Given the description of an element on the screen output the (x, y) to click on. 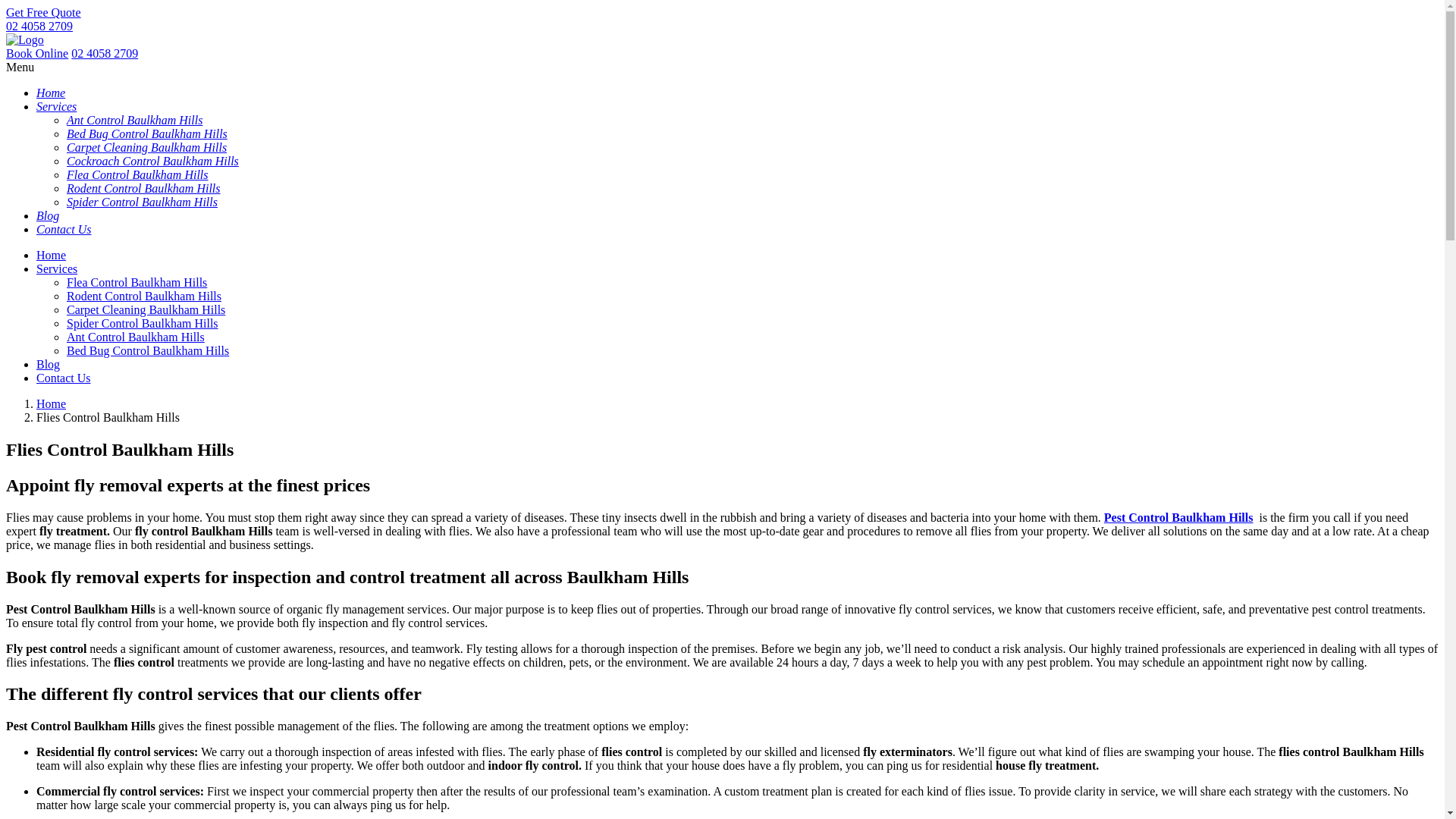
Menu Element type: text (20, 66)
Home Element type: text (50, 92)
Services Element type: text (56, 268)
Ant Control Baulkham Hills Element type: text (135, 336)
Cockroach Control Baulkham Hills Element type: text (152, 160)
02 4058 2709 Element type: text (104, 53)
Contact Us Element type: text (63, 377)
Get Free Quote Element type: text (43, 12)
Book Online Element type: text (37, 53)
Flea Control Baulkham Hills Element type: text (137, 174)
Home Element type: text (50, 403)
Rodent Control Baulkham Hills Element type: text (143, 188)
02 4058 2709 Element type: text (39, 25)
Carpet Cleaning Baulkham Hills Element type: text (146, 147)
Spider Control Baulkham Hills Element type: text (142, 322)
Services Element type: text (56, 106)
Bed Bug Control Baulkham Hills Element type: text (147, 350)
Flea Control Baulkham Hills Element type: text (136, 282)
Spider Control Baulkham Hills Element type: text (141, 201)
Ant Control Baulkham Hills Element type: text (134, 119)
Blog Element type: text (47, 363)
Rodent Control Baulkham Hills Element type: text (143, 295)
Home Element type: text (50, 254)
Carpet Cleaning Baulkham Hills Element type: text (145, 309)
Bed Bug Control Baulkham Hills Element type: text (146, 133)
Contact Us Element type: text (63, 228)
Blog Element type: text (47, 215)
Pest Control Baulkham Hills Element type: text (1178, 517)
